Given the description of an element on the screen output the (x, y) to click on. 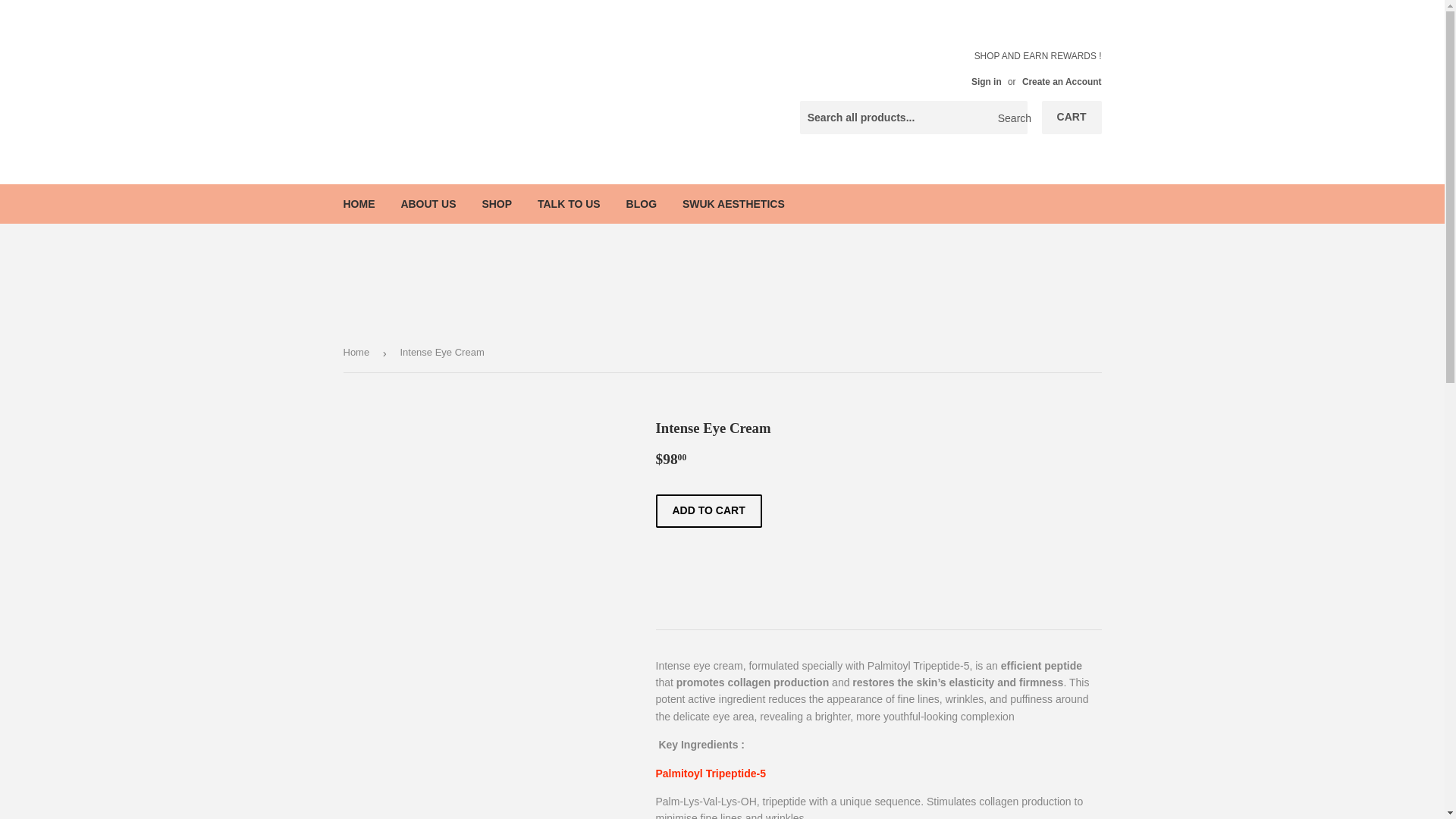
CART (1072, 117)
Search (1009, 118)
HOME (359, 202)
Back to the frontpage (358, 352)
Create an Account (1062, 81)
ABOUT US (427, 202)
SHOP (496, 202)
Sign in (986, 81)
